Given the description of an element on the screen output the (x, y) to click on. 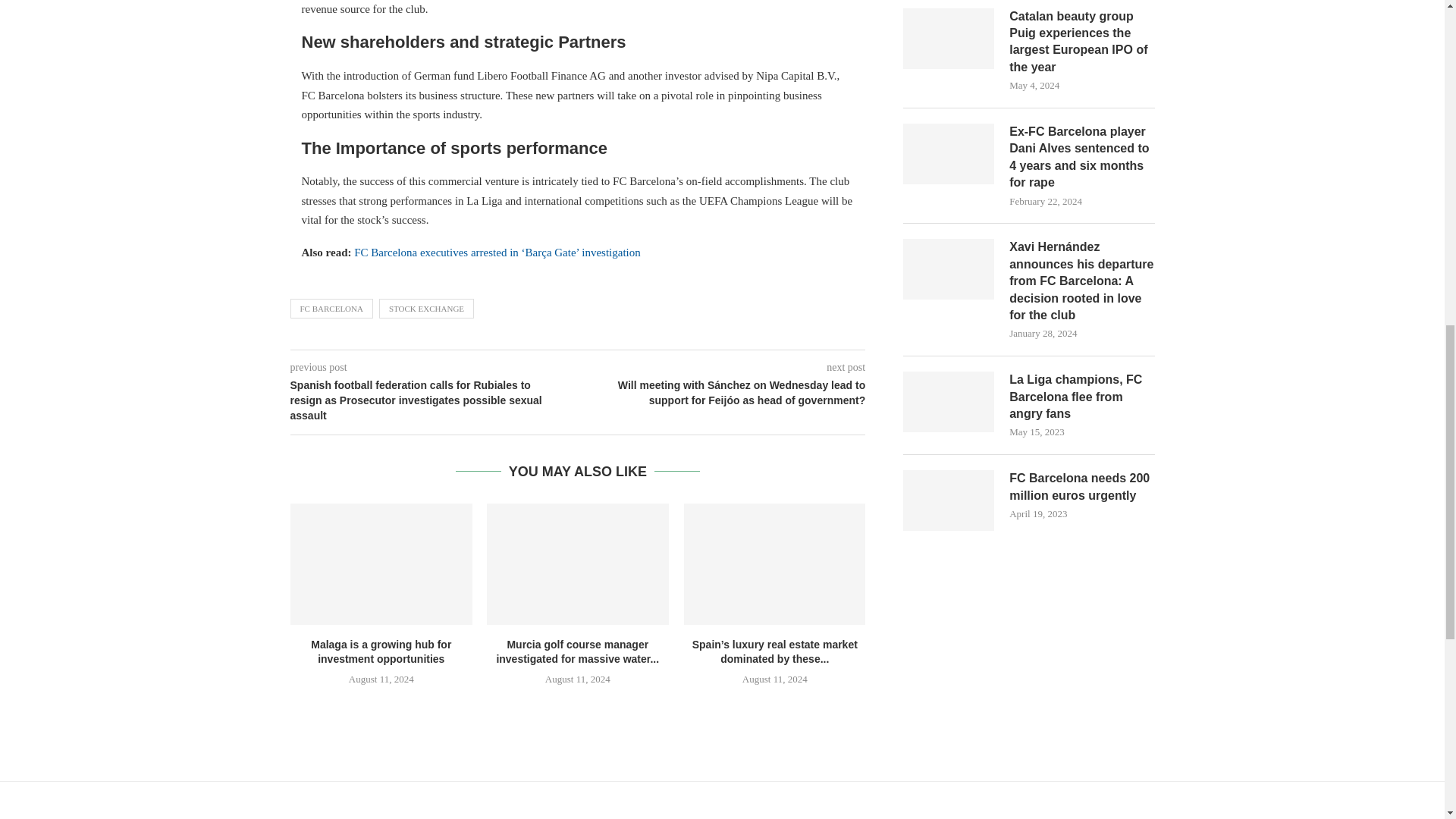
STOCK EXCHANGE (426, 308)
Malaga is a growing hub for investment opportunities (380, 563)
FC BARCELONA (330, 308)
